Given the description of an element on the screen output the (x, y) to click on. 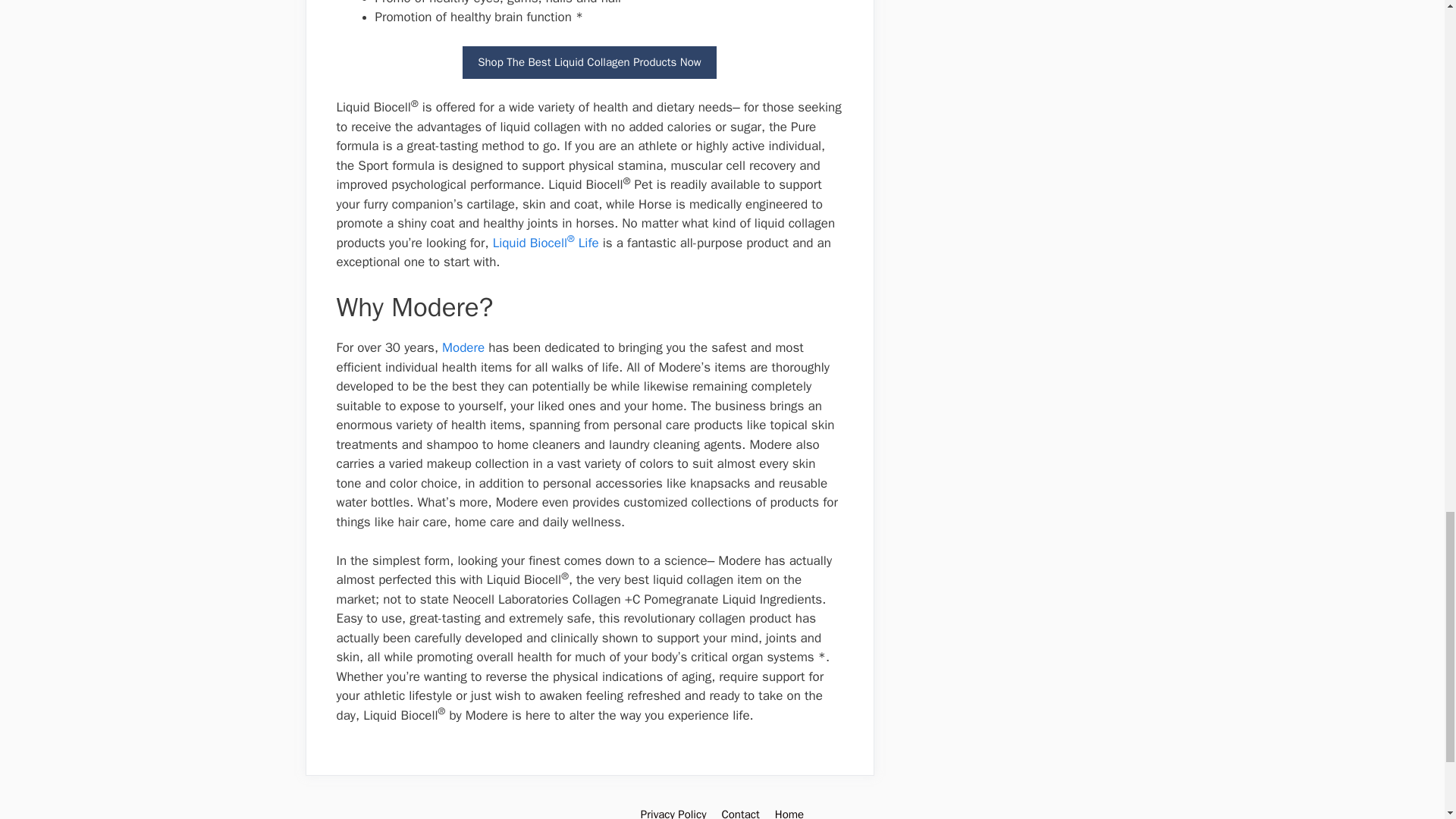
Contact (739, 813)
Home (788, 813)
Modere (463, 347)
Privacy Policy (673, 813)
Shop The Best Liquid Collagen Products Now (589, 61)
